Given the description of an element on the screen output the (x, y) to click on. 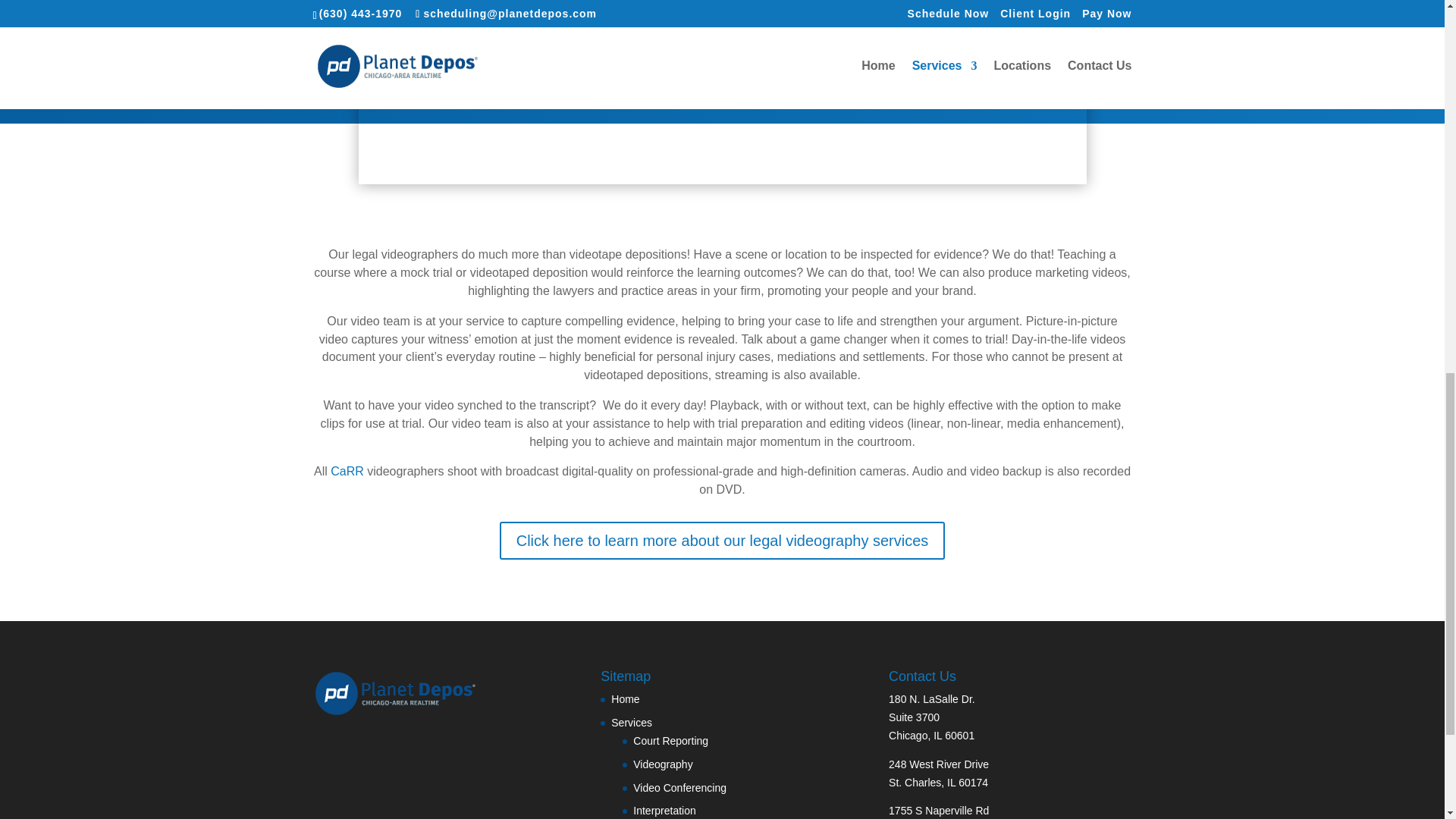
Services (631, 722)
CaRR (347, 471)
Home (625, 698)
Videography (663, 764)
Video Conferencing (679, 787)
Interpretation (664, 810)
Court Reporting (670, 740)
